Given the description of an element on the screen output the (x, y) to click on. 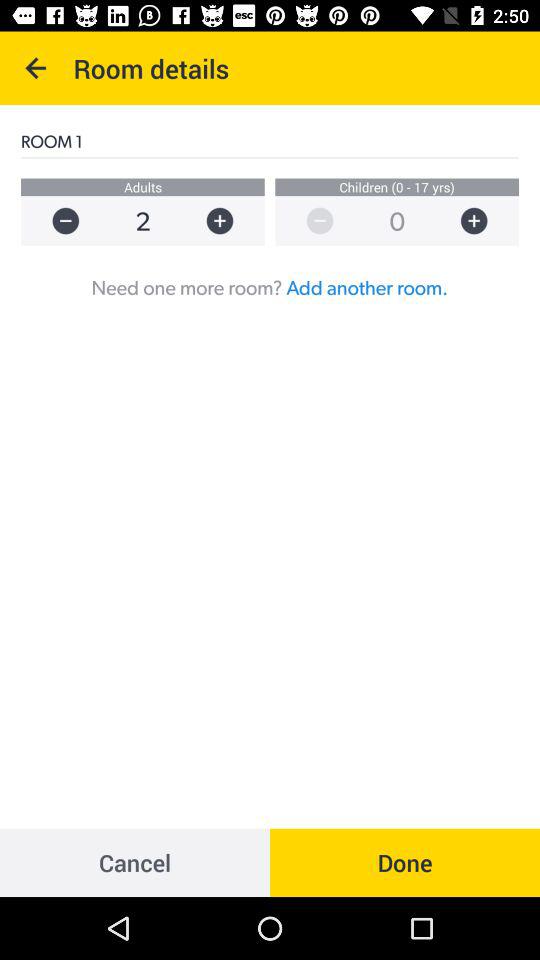
click the icon next to the room details (36, 68)
